Given the description of an element on the screen output the (x, y) to click on. 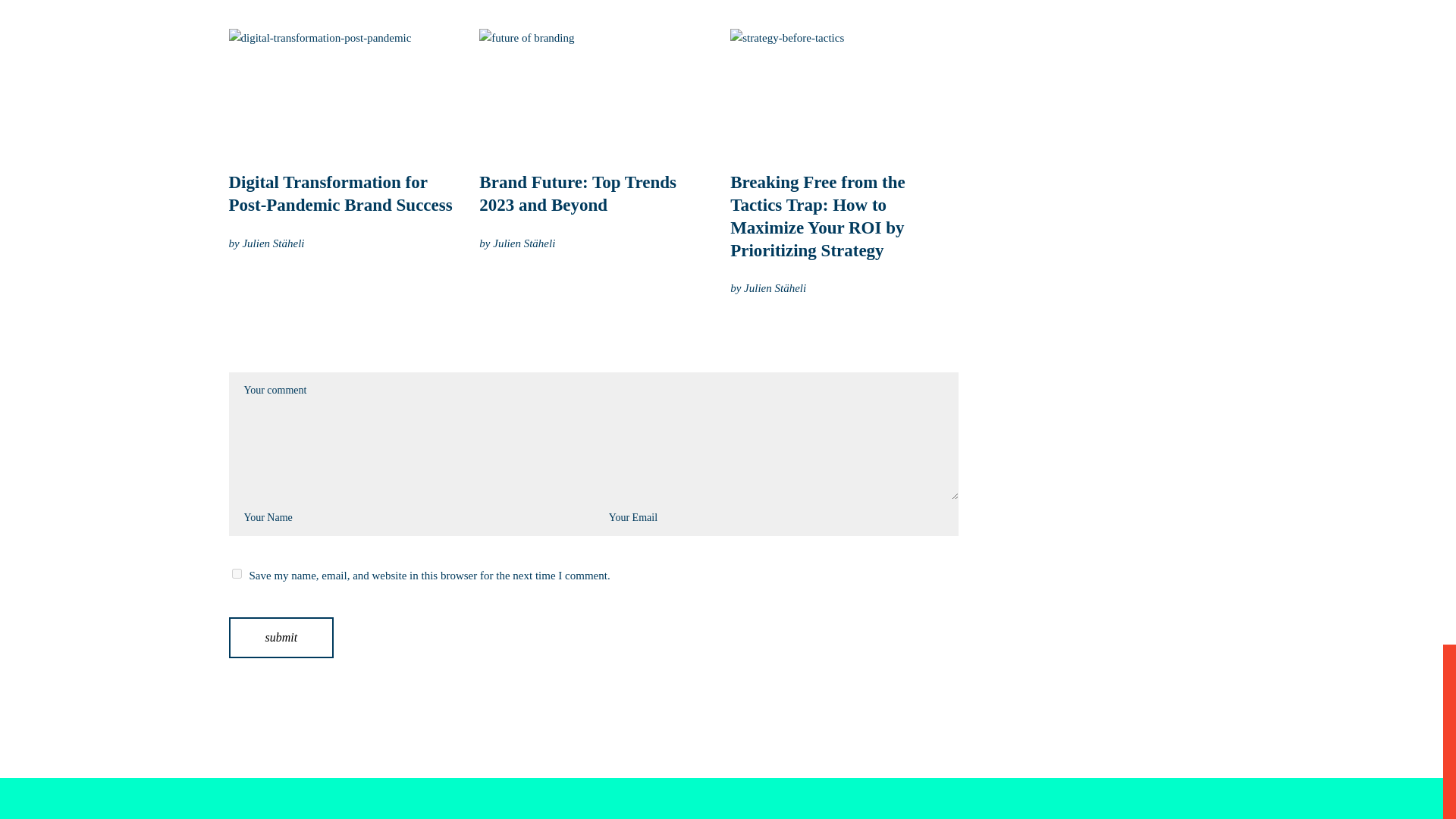
Brand Future: Top Trends 2023 and Beyond (578, 193)
Digital Transformation for Post-Pandemic Brand Success (340, 193)
Brand Future: Top Trends 2023 and Beyond (593, 92)
Brand Future: Top Trends 2023 and Beyond (578, 193)
Digital Transformation for Post-Pandemic Brand Success (342, 92)
submit (281, 637)
Digital Transformation for Post-Pandemic Brand Success (340, 193)
yes (236, 573)
